Given the description of an element on the screen output the (x, y) to click on. 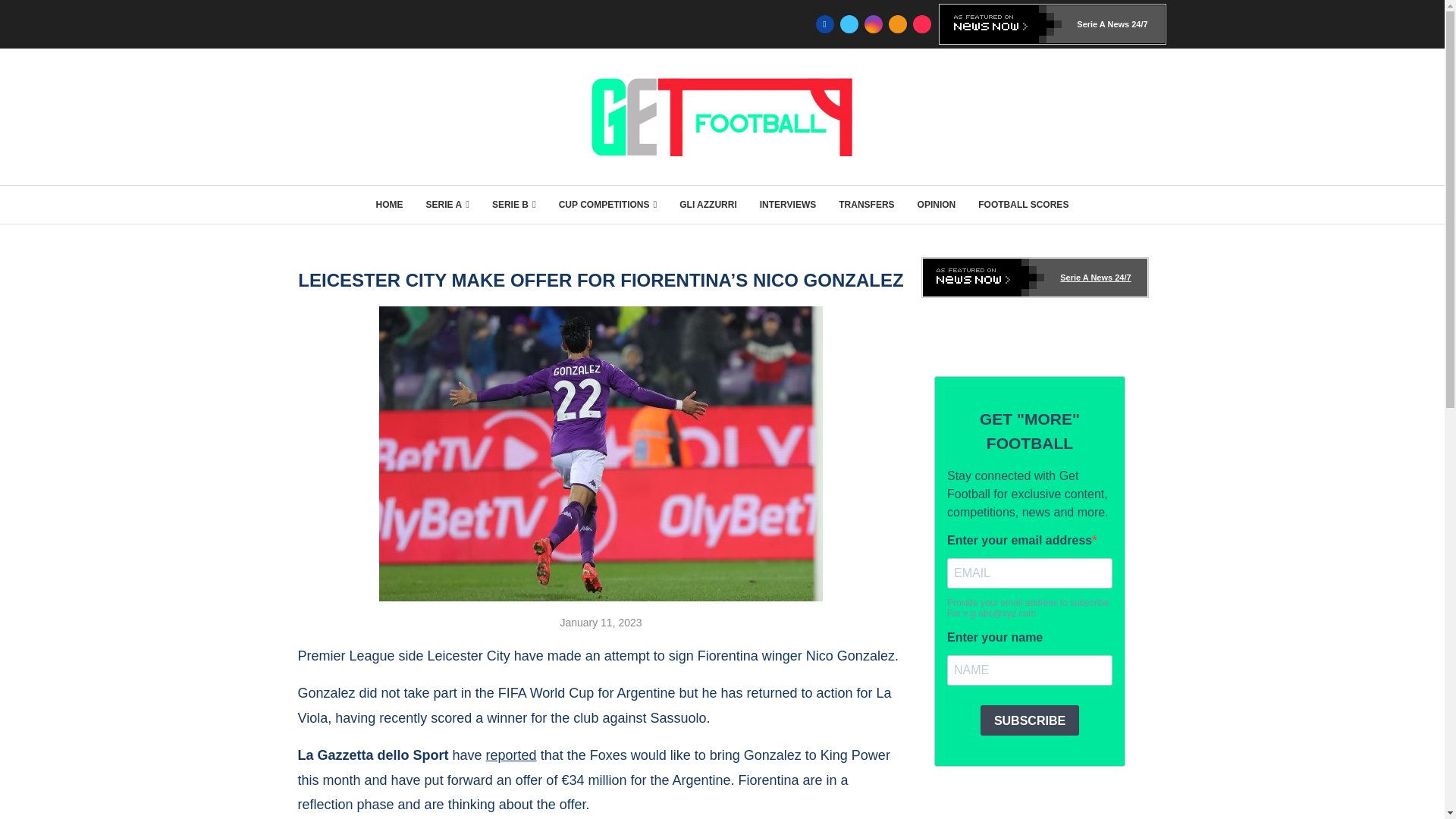
SERIE B (513, 204)
HOME (389, 204)
Click here for more Italian football news from NewsNow (1052, 24)
Click here for more Italian football news from NewsNow (1034, 277)
SERIE A (447, 204)
